Given the description of an element on the screen output the (x, y) to click on. 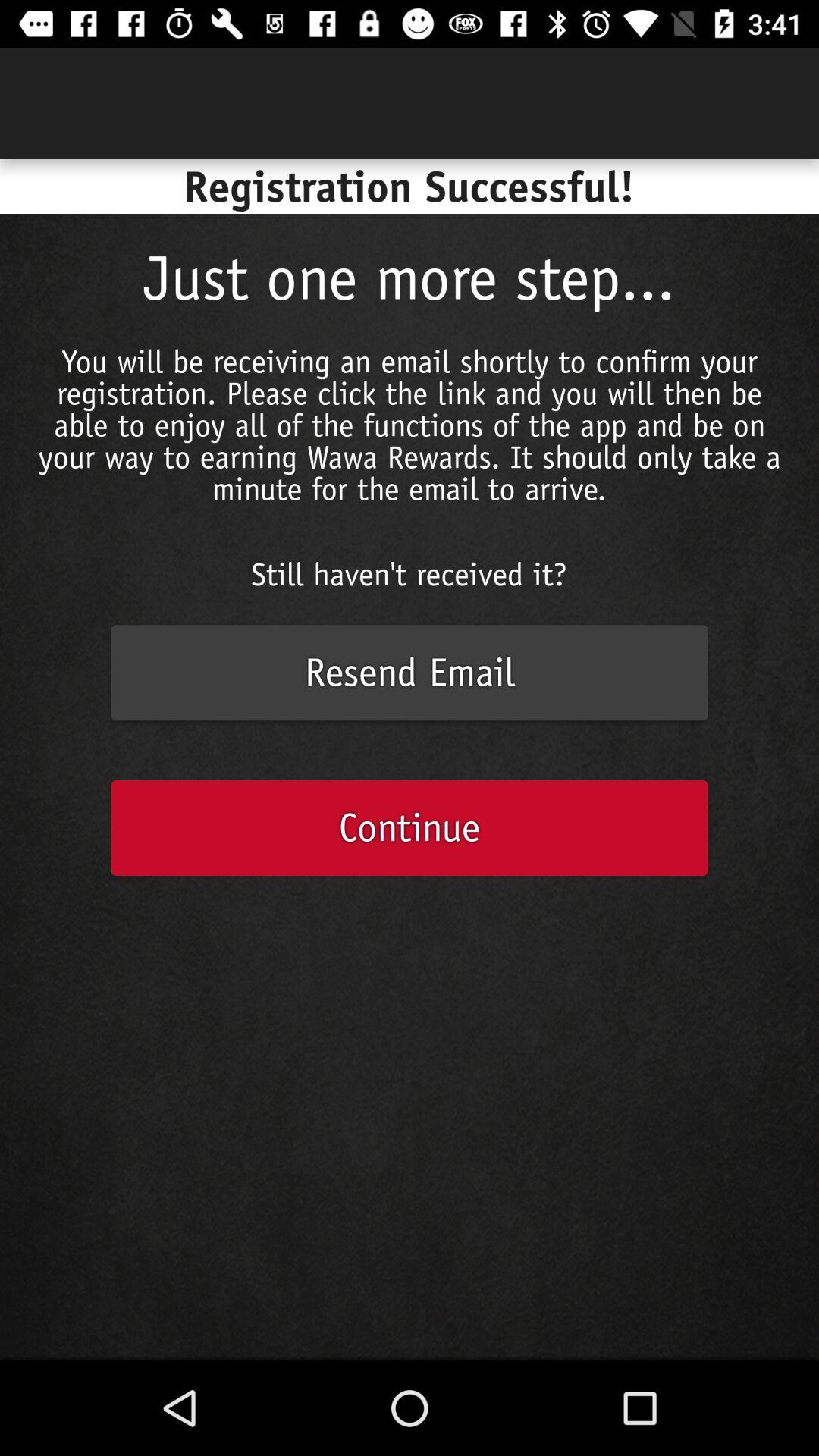
swipe until continue icon (409, 827)
